Given the description of an element on the screen output the (x, y) to click on. 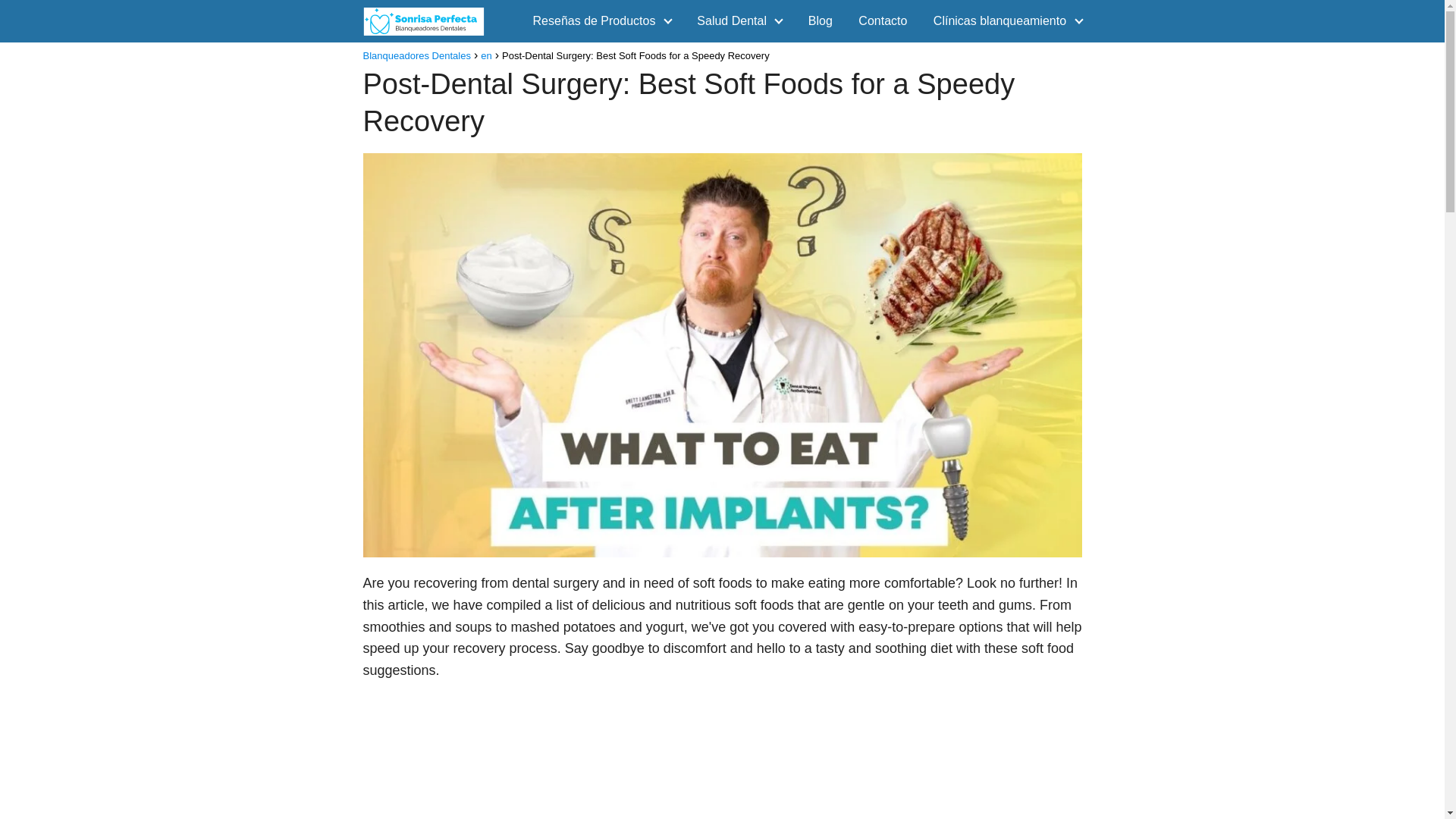
Salud Dental (735, 20)
Contacto (883, 20)
Blog (820, 20)
